Given the description of an element on the screen output the (x, y) to click on. 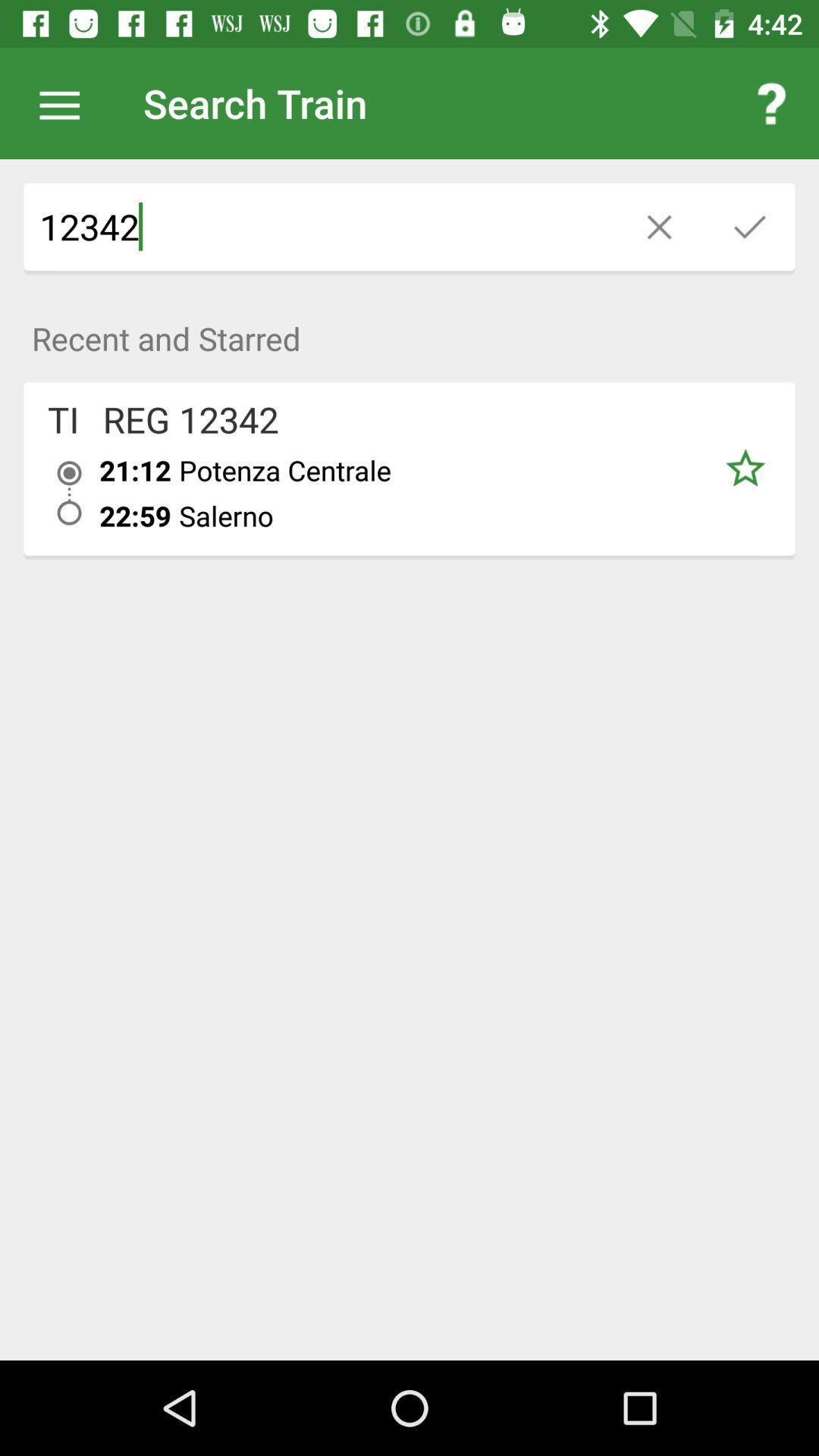
favorite (745, 468)
